Given the description of an element on the screen output the (x, y) to click on. 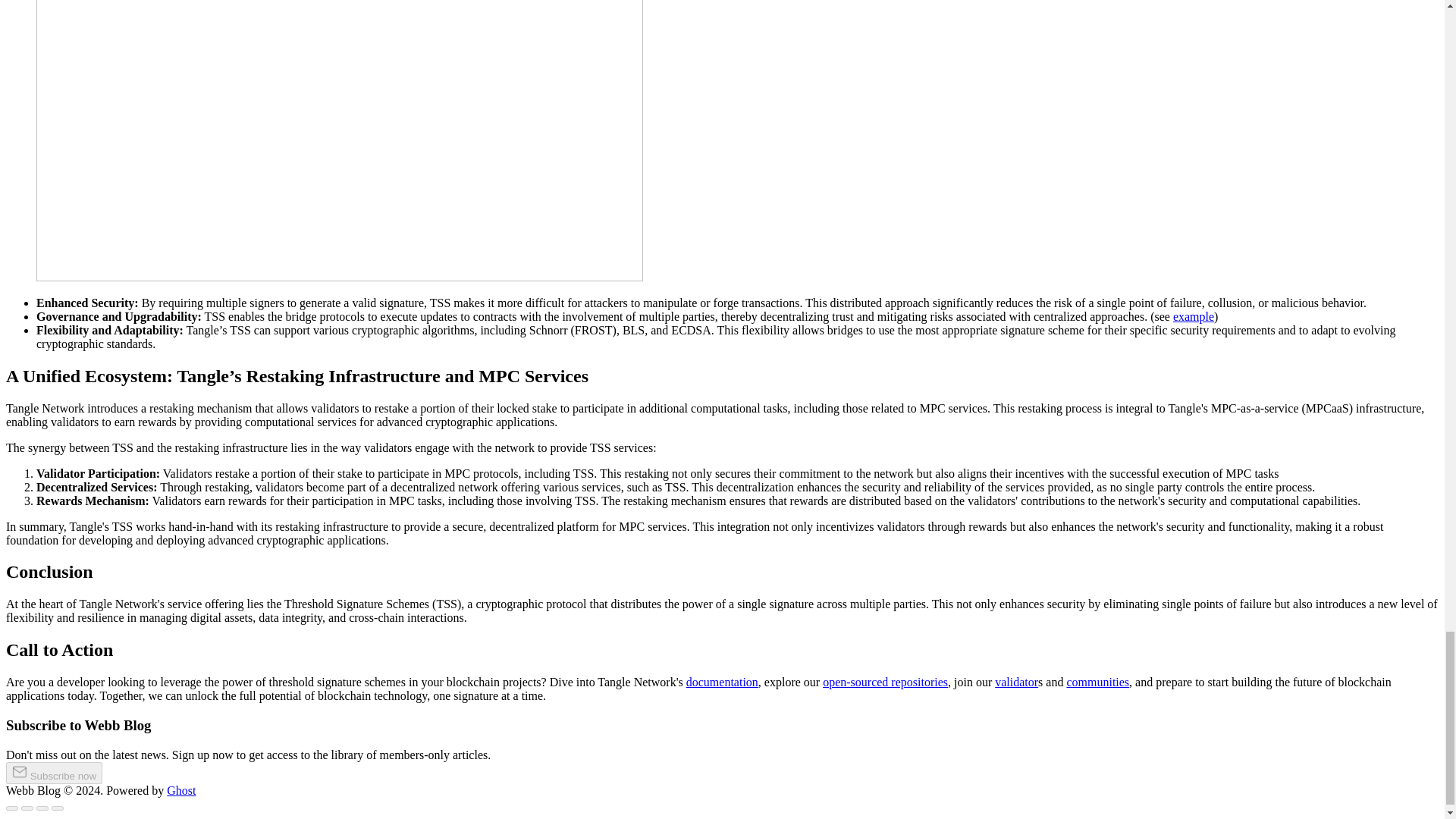
Ghost (181, 789)
Share (27, 807)
validator (1016, 681)
open-sourced repositories (884, 681)
example (1193, 316)
Toggle fullscreen (42, 807)
communities (1097, 681)
Subscribe now (53, 772)
documentation (721, 681)
